Given the description of an element on the screen output the (x, y) to click on. 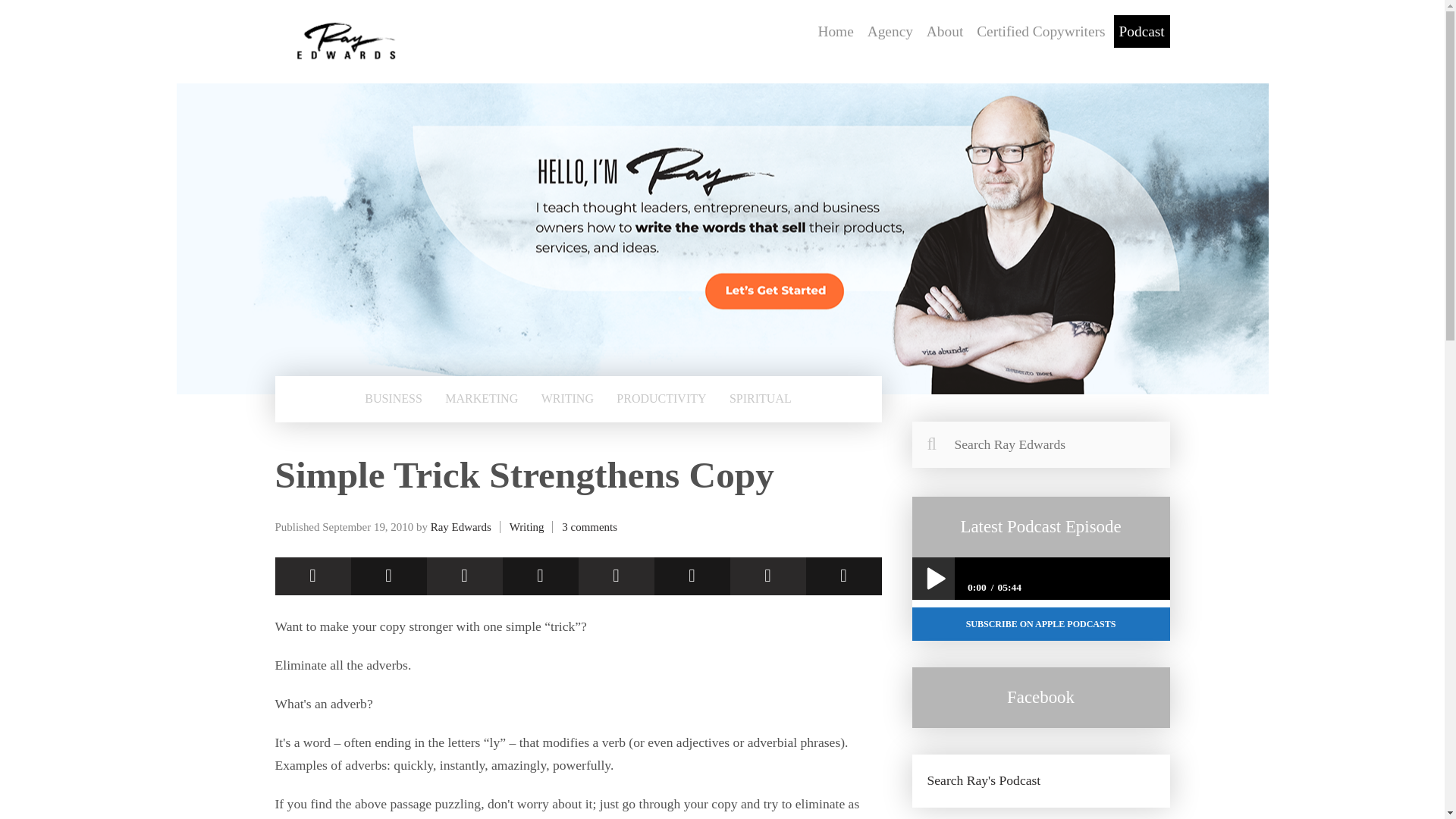
3 comments (589, 526)
Search for: (1040, 444)
Home (835, 31)
Certified Copywriters (1040, 31)
Ray Edwards (461, 526)
Writing (526, 526)
BUSINESS (392, 398)
Podcast (1141, 31)
About (944, 31)
WRITING (567, 398)
